Given the description of an element on the screen output the (x, y) to click on. 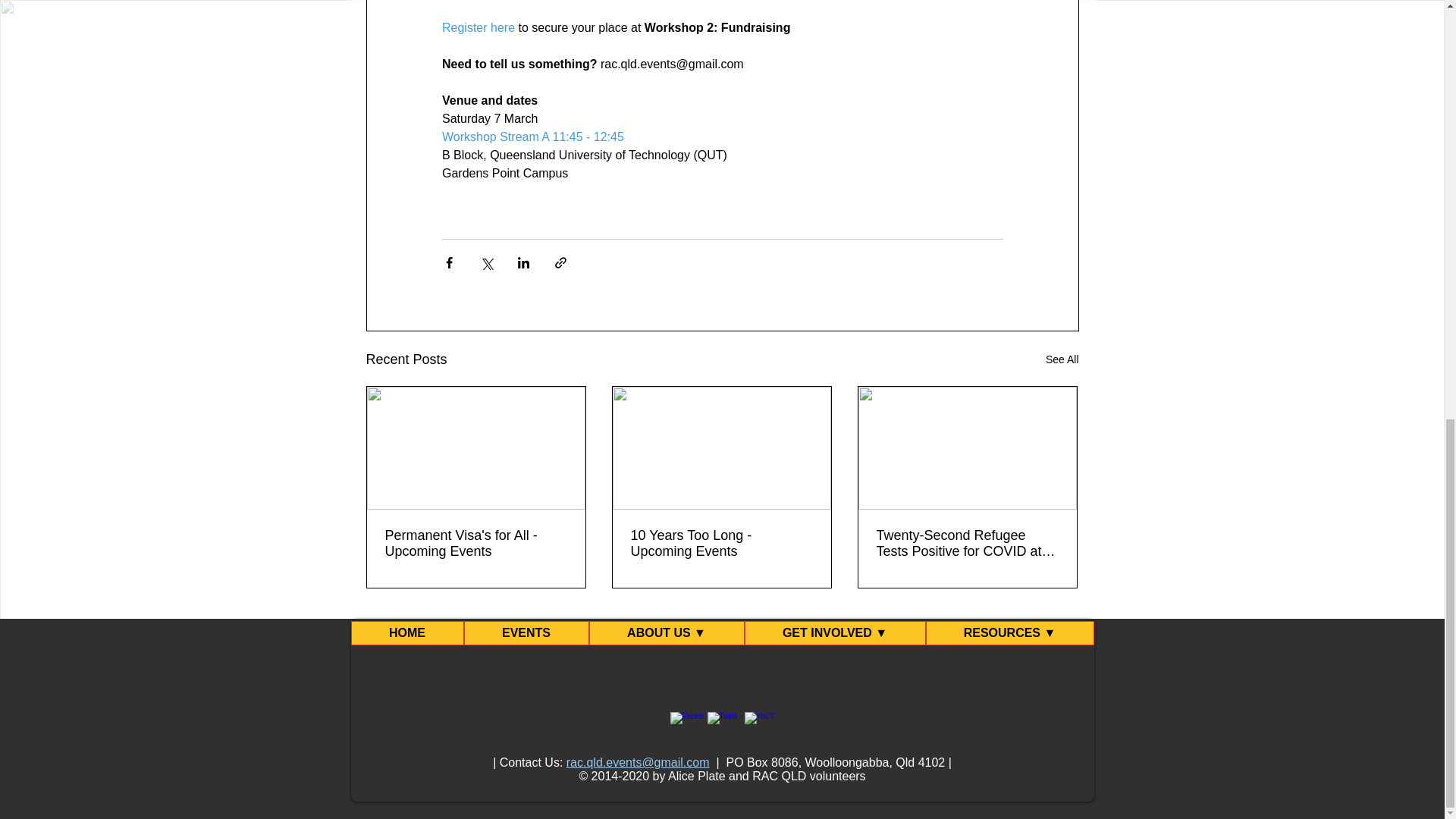
Workshop Stream A 11:45 - 12:45 (532, 136)
HOME (406, 632)
10 Years Too Long - Upcoming Events (721, 543)
Permanent Visa's for All - Upcoming Events (476, 543)
Register here (477, 27)
See All (1061, 359)
EVENTS (526, 632)
Twenty-Second Refugee Tests Positive for COVID at Park Hotel (967, 543)
